Given the description of an element on the screen output the (x, y) to click on. 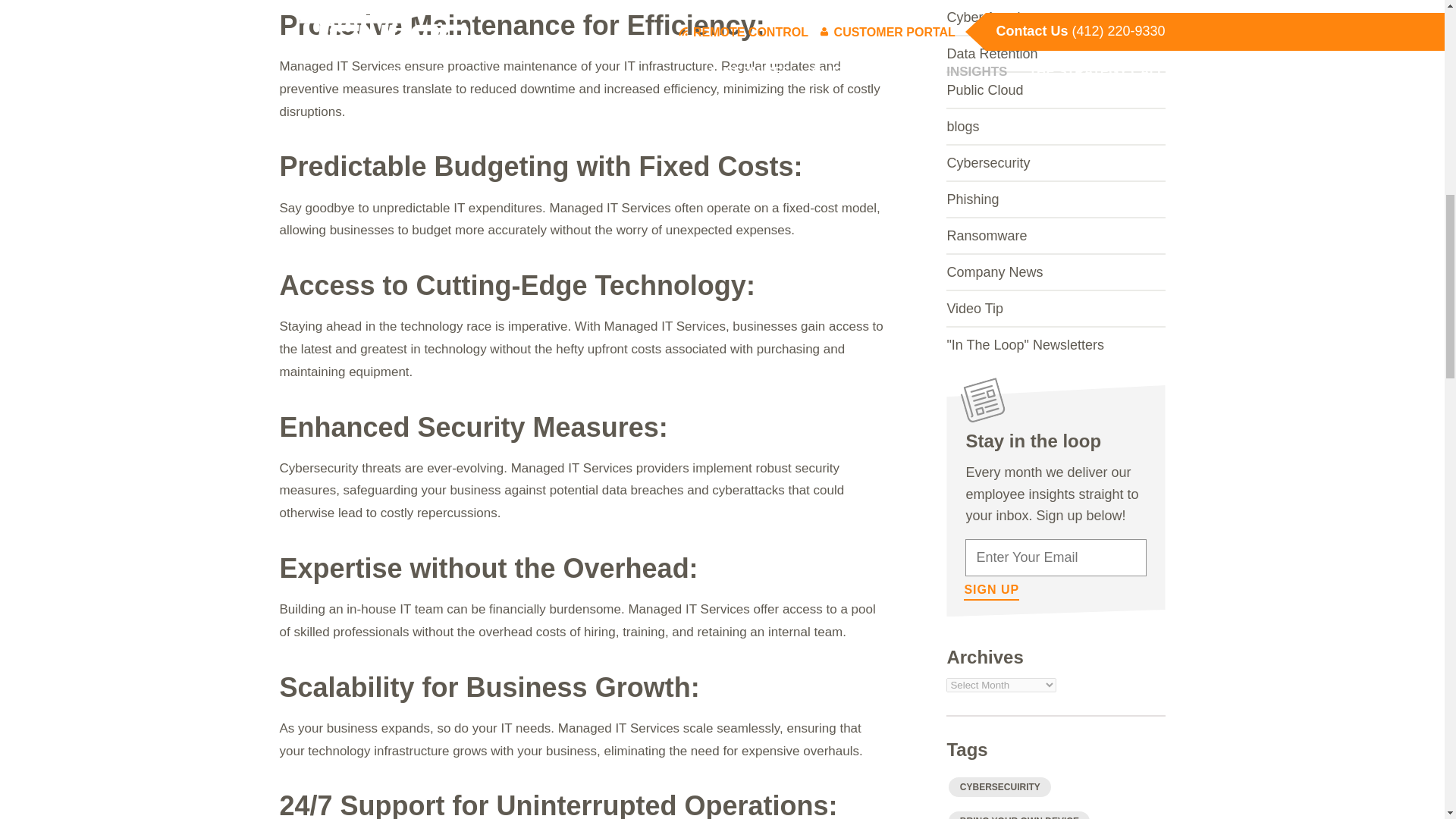
Sign Up (991, 591)
